Given the description of an element on the screen output the (x, y) to click on. 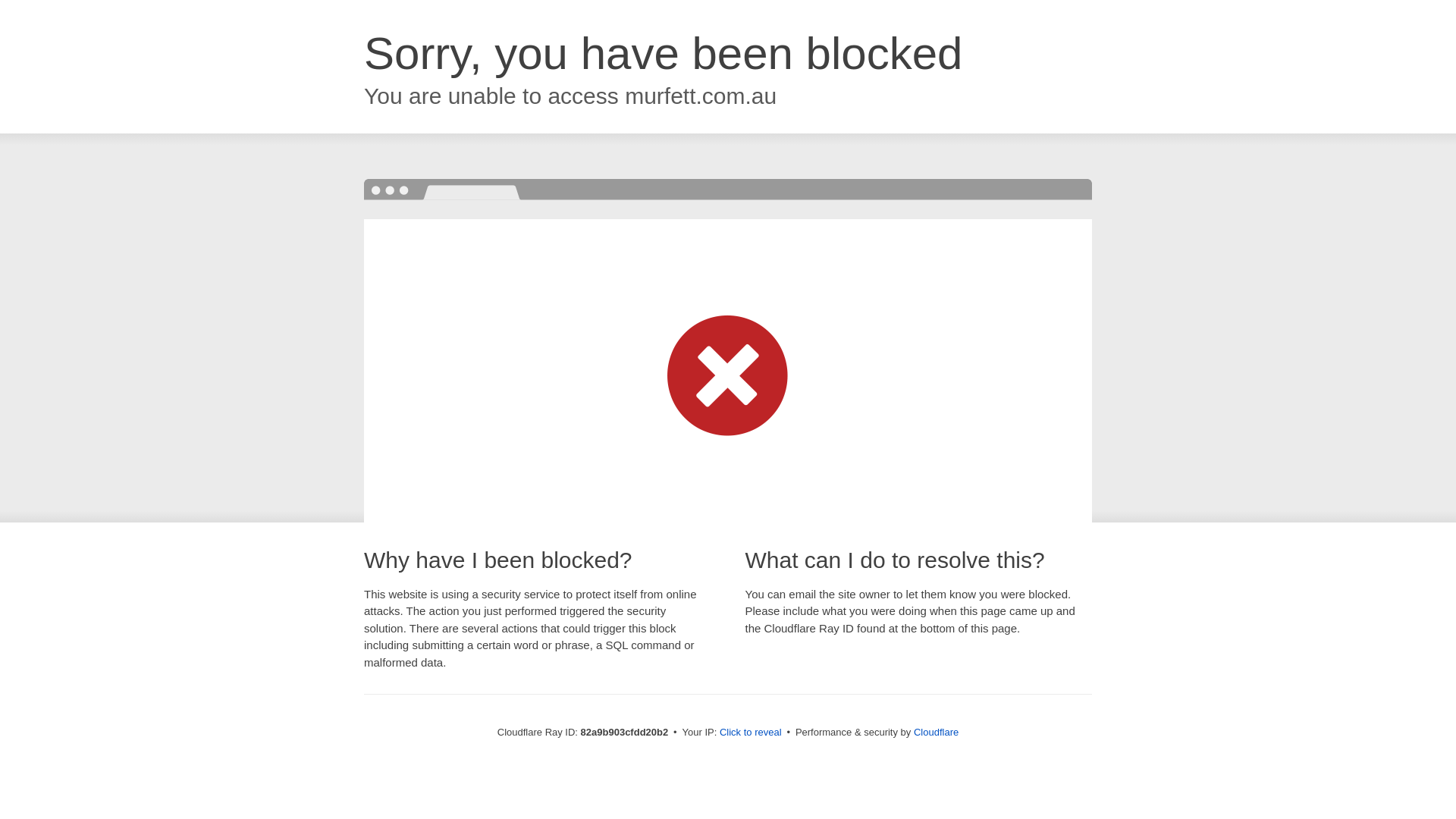
Click to reveal Element type: text (750, 732)
Cloudflare Element type: text (935, 731)
